Given the description of an element on the screen output the (x, y) to click on. 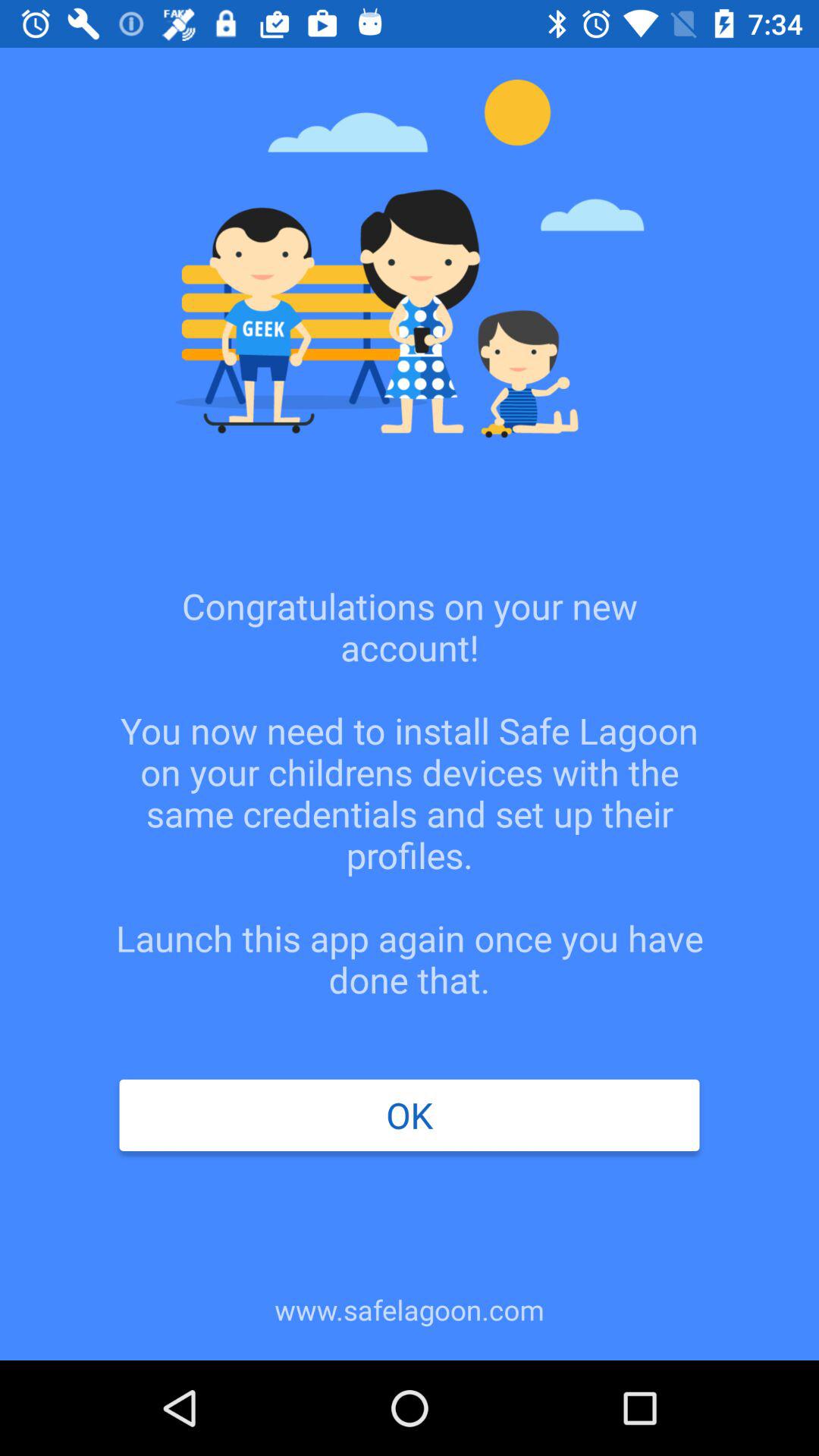
turn off the item below the congratulations on your item (409, 1115)
